Given the description of an element on the screen output the (x, y) to click on. 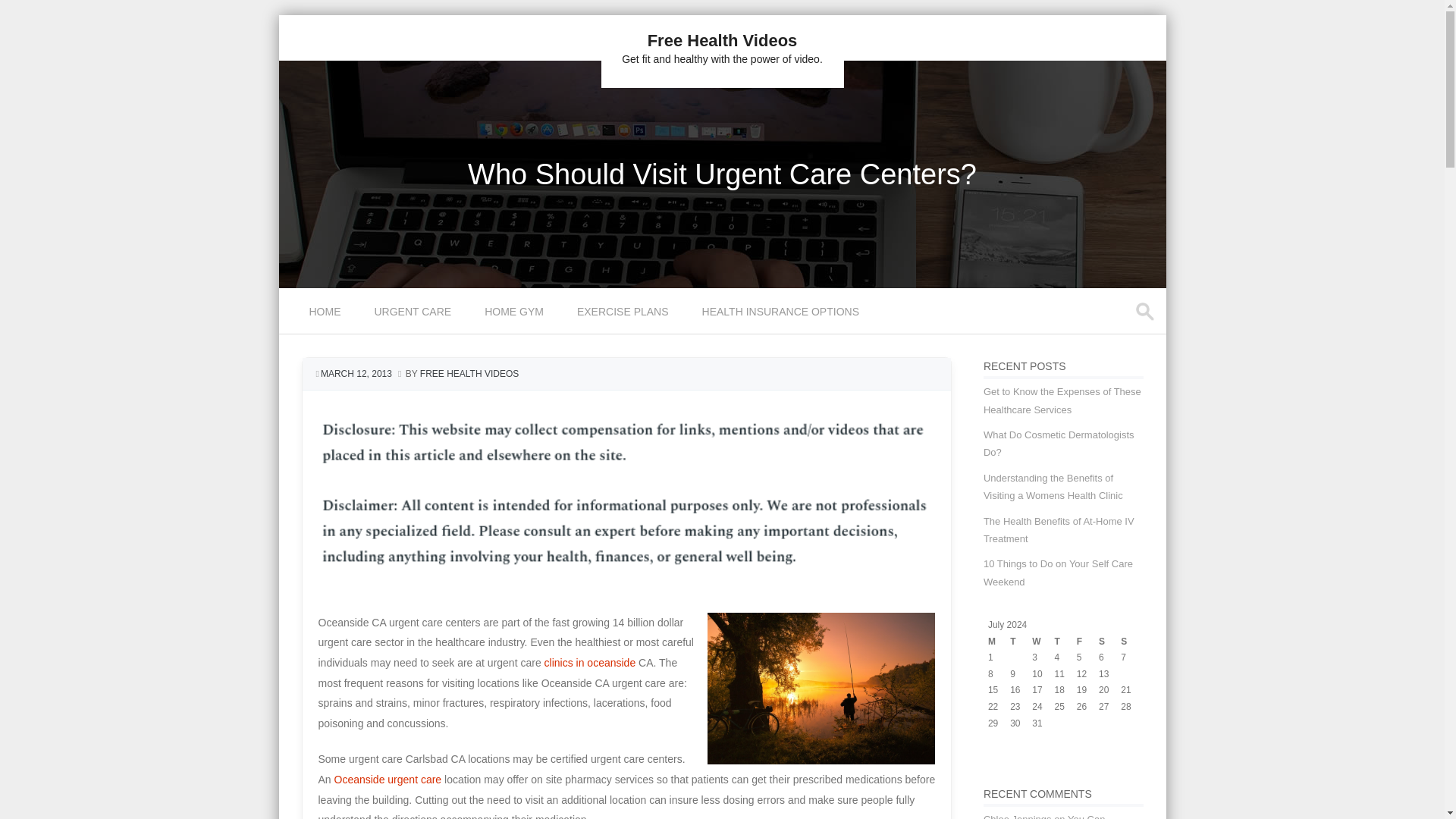
Wednesday (1043, 641)
FREE HEALTH VIDEOS (469, 373)
EXERCISE PLANS (624, 310)
What Do Cosmetic Dermatologists Do? (1059, 443)
Oceanside urgent care (388, 779)
Urgent care carlsbad ca, Urgent care carlsbad (388, 779)
View all posts by Free Health Videos (469, 373)
Thursday (1065, 641)
HEALTH INSURANCE OPTIONS (782, 310)
8:09 pm (356, 373)
MARCH 12, 2013 (356, 373)
Skip to content (314, 297)
10 Things to Do on Your Self Care Weekend (1058, 572)
Free Health Videos (722, 40)
